Given the description of an element on the screen output the (x, y) to click on. 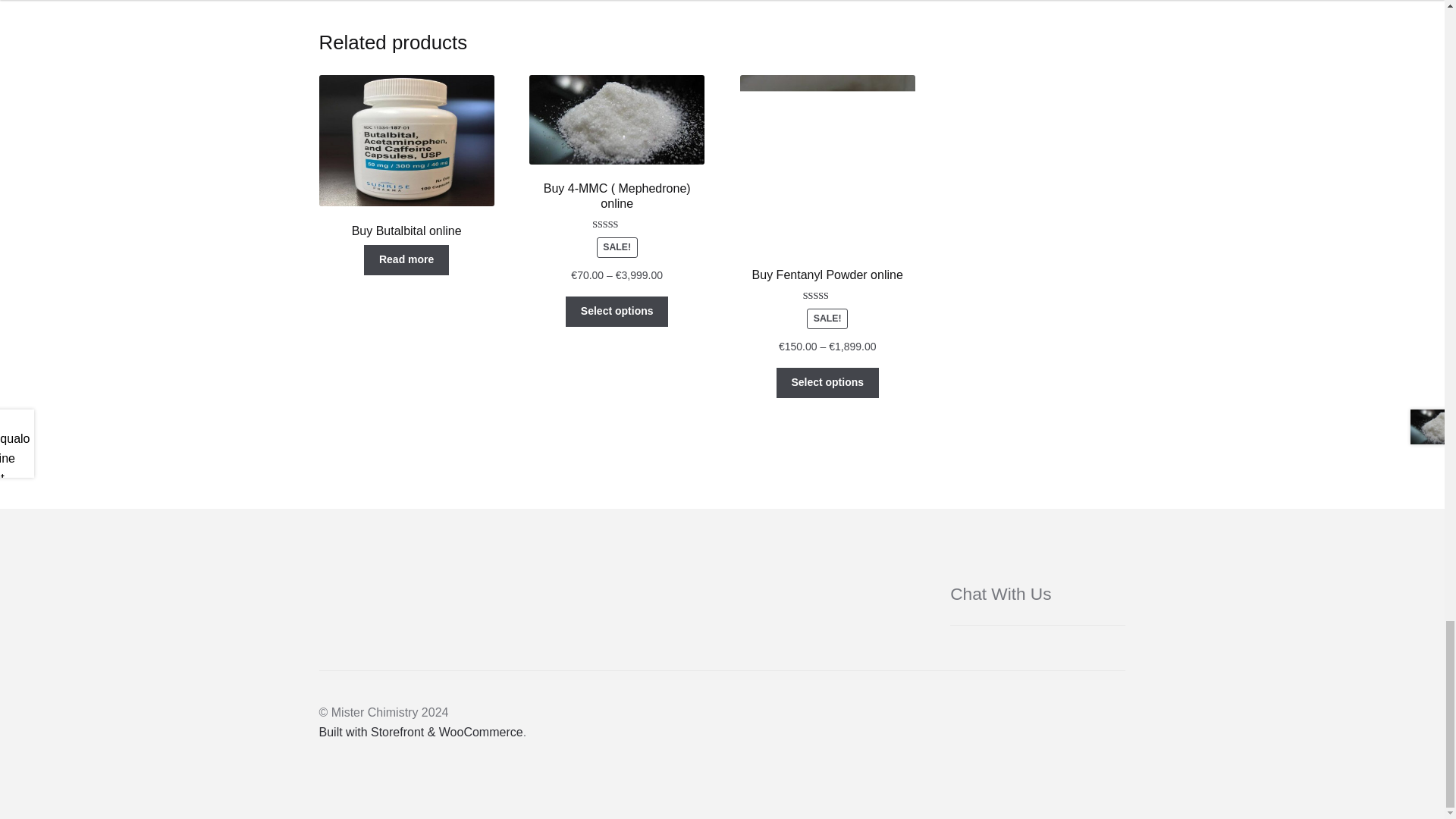
Buy Butalbital online (406, 157)
WooCommerce - The Best eCommerce Platform for WordPress (420, 731)
Read more (406, 259)
